Given the description of an element on the screen output the (x, y) to click on. 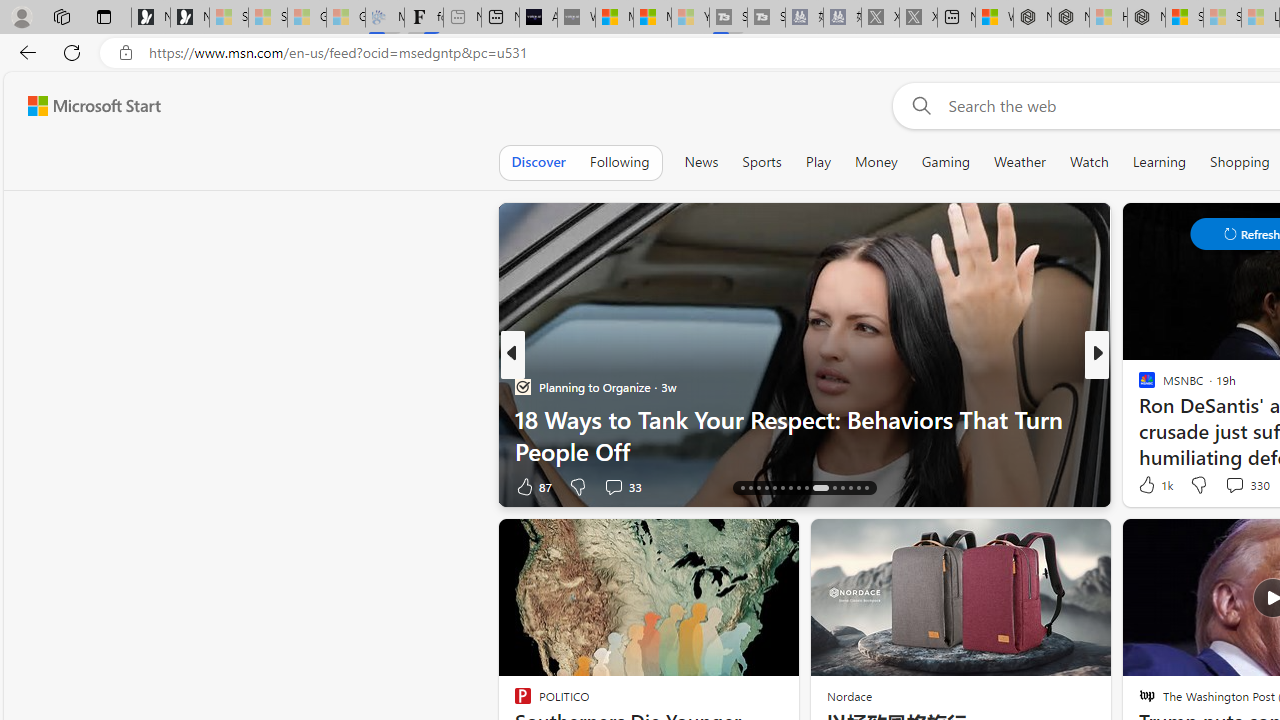
AutomationID: tab-16 (742, 487)
Ad Choice (479, 486)
News (701, 161)
View comments 96 Comment (1234, 485)
Newsweek (1138, 386)
Microsoft Start Sports (614, 17)
View comments 39 Comment (11, 485)
Workspaces (61, 16)
Sports (761, 161)
Comments turned off for this story (1222, 485)
8 Like (1145, 486)
Streaming Coverage | T3 - Sleeping (728, 17)
View comments 55 Comment (1237, 486)
